Given the description of an element on the screen output the (x, y) to click on. 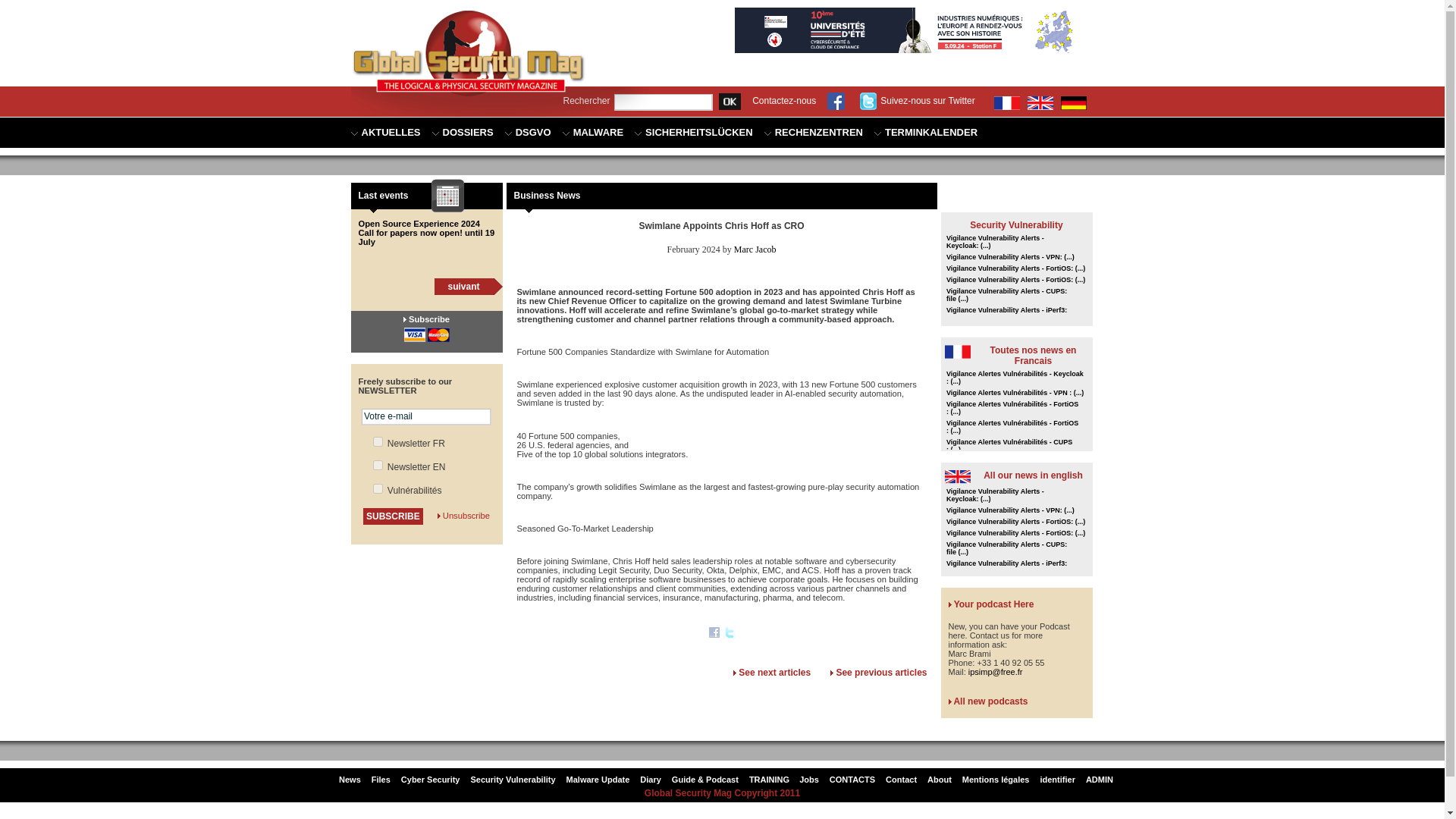
signup (377, 464)
suivant (462, 285)
RECHENZENTREN (813, 132)
See next articles (774, 672)
TERMINKALENDER (925, 132)
SUBSCRIBE (392, 515)
SUBSCRIBE (392, 515)
signup (377, 441)
Security Vulnerability (1015, 225)
